Given the description of an element on the screen output the (x, y) to click on. 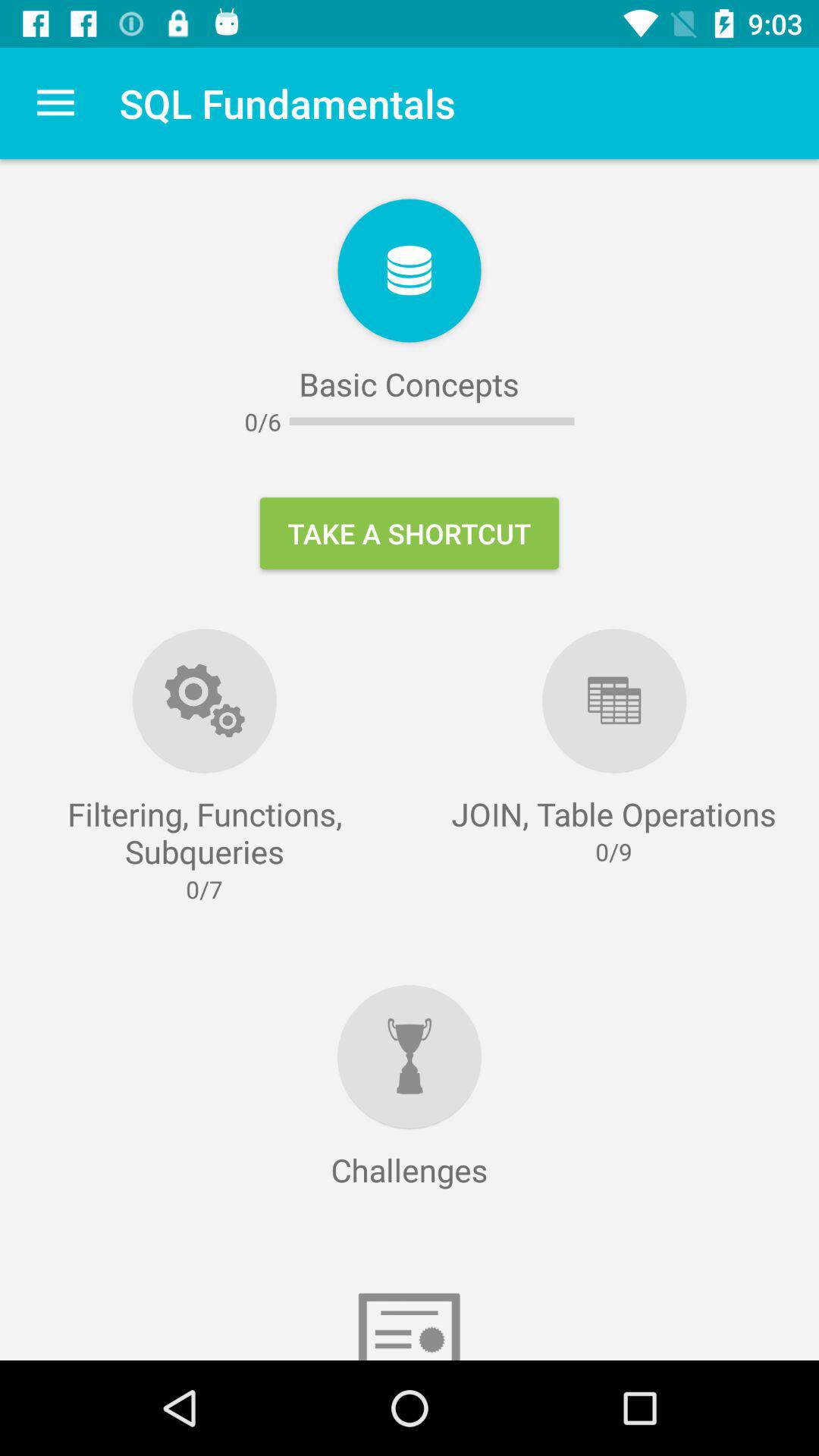
turn off the item next to sql fundamentals item (55, 103)
